Given the description of an element on the screen output the (x, y) to click on. 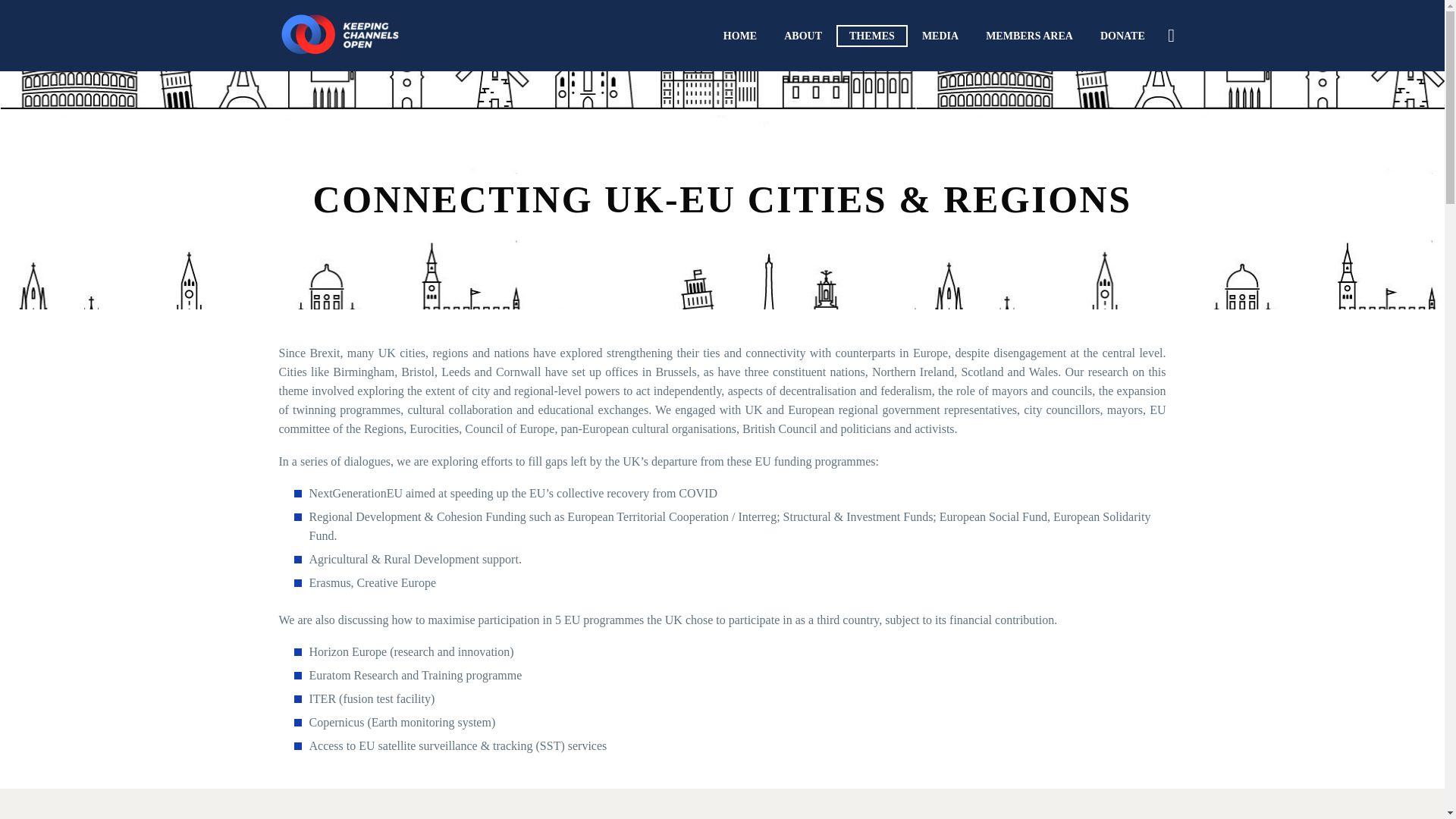
DONATE (1122, 35)
MEMBERS AREA (1029, 35)
ABOUT (802, 35)
MEDIA (940, 35)
HOME (739, 35)
THEMES (871, 34)
